Given the description of an element on the screen output the (x, y) to click on. 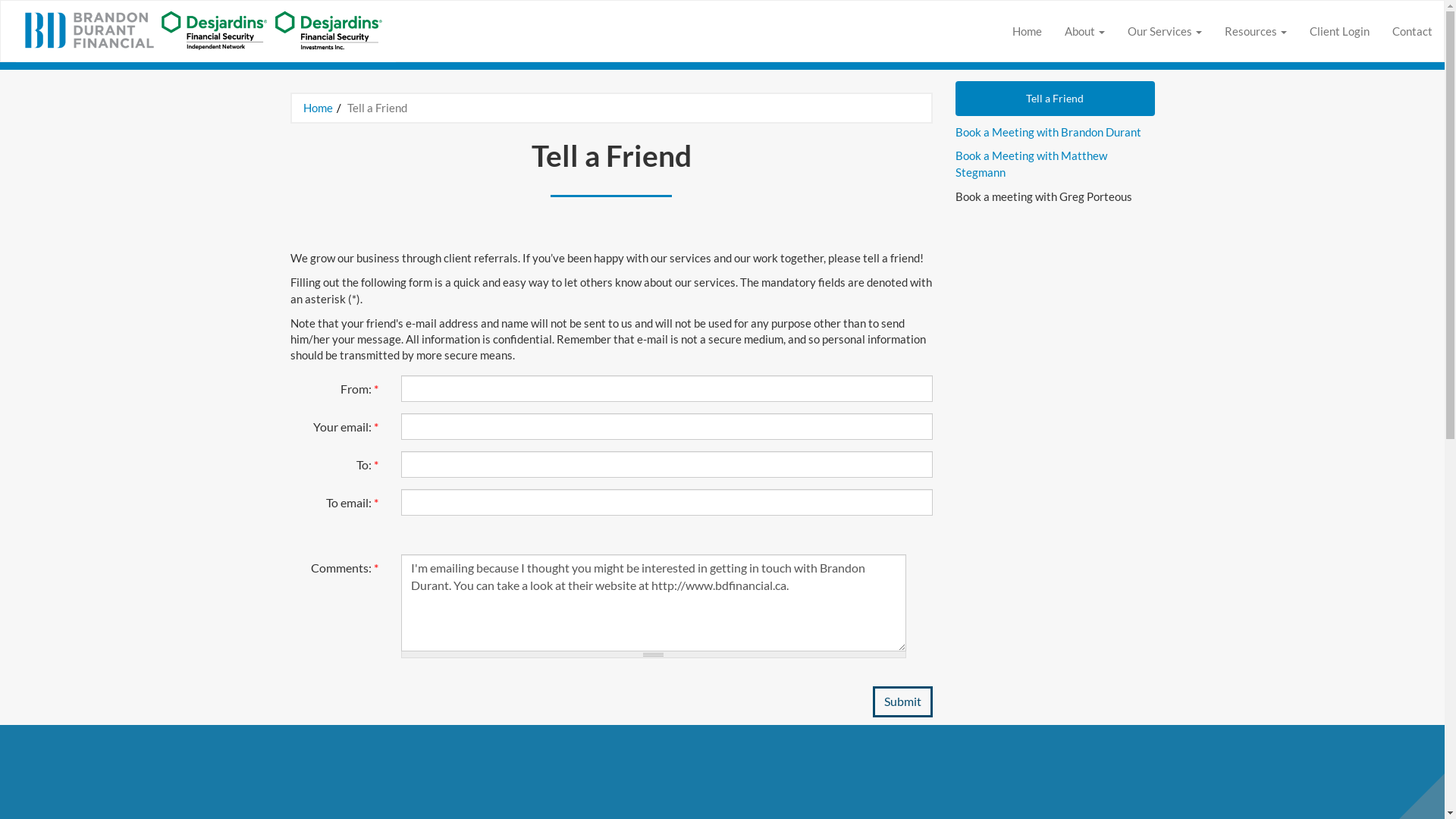
Resources Element type: text (1245, 30)
Our Services Element type: text (1154, 30)
Home Element type: text (317, 107)
  Element type: text (1105, 30)
About Element type: text (1074, 30)
Submit Element type: text (902, 701)
Tell a Friend Element type: text (1054, 98)
Book a Meeting with Matthew Stegmann Element type: text (1031, 163)
Book a Meeting with Brandon Durant Element type: text (1048, 131)
  Element type: text (1202, 30)
Toggle menu Element type: hover (1202, 30)
Contact Element type: text (1411, 30)
Toggle menu Element type: hover (1105, 30)
Home Element type: text (1027, 30)
Client Login Element type: text (1339, 30)
Toggle menu Element type: hover (1287, 30)
  Element type: text (1287, 30)
Skip to main content Element type: text (50, 7)
